Given the description of an element on the screen output the (x, y) to click on. 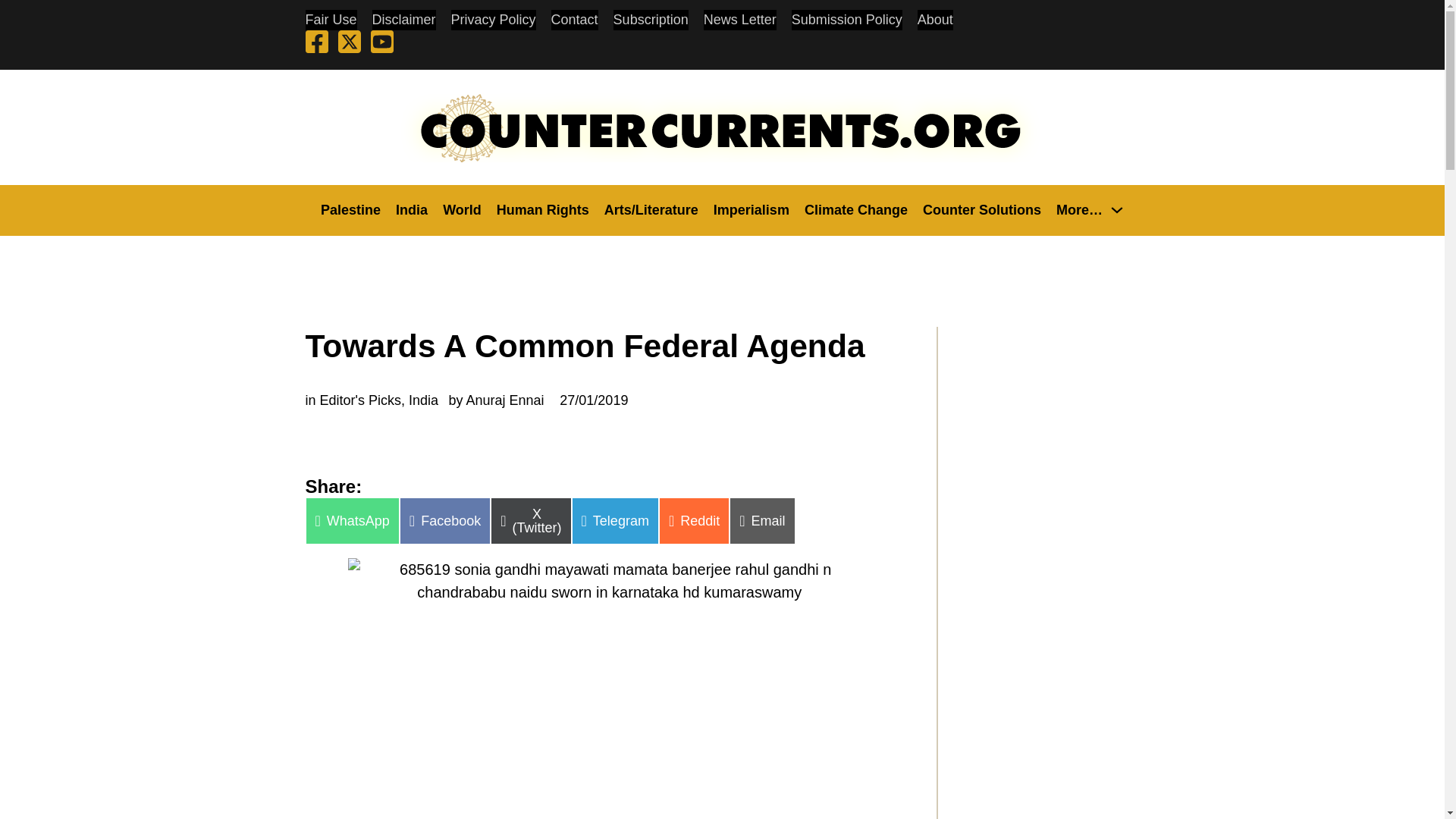
Counter Solutions (982, 209)
News Letter (739, 19)
Privacy Policy (493, 19)
Contact (574, 19)
Submission Policy (847, 19)
Fair Use (330, 19)
Human Rights (542, 209)
Imperialism (751, 209)
World (461, 209)
About (935, 19)
